Given the description of an element on the screen output the (x, y) to click on. 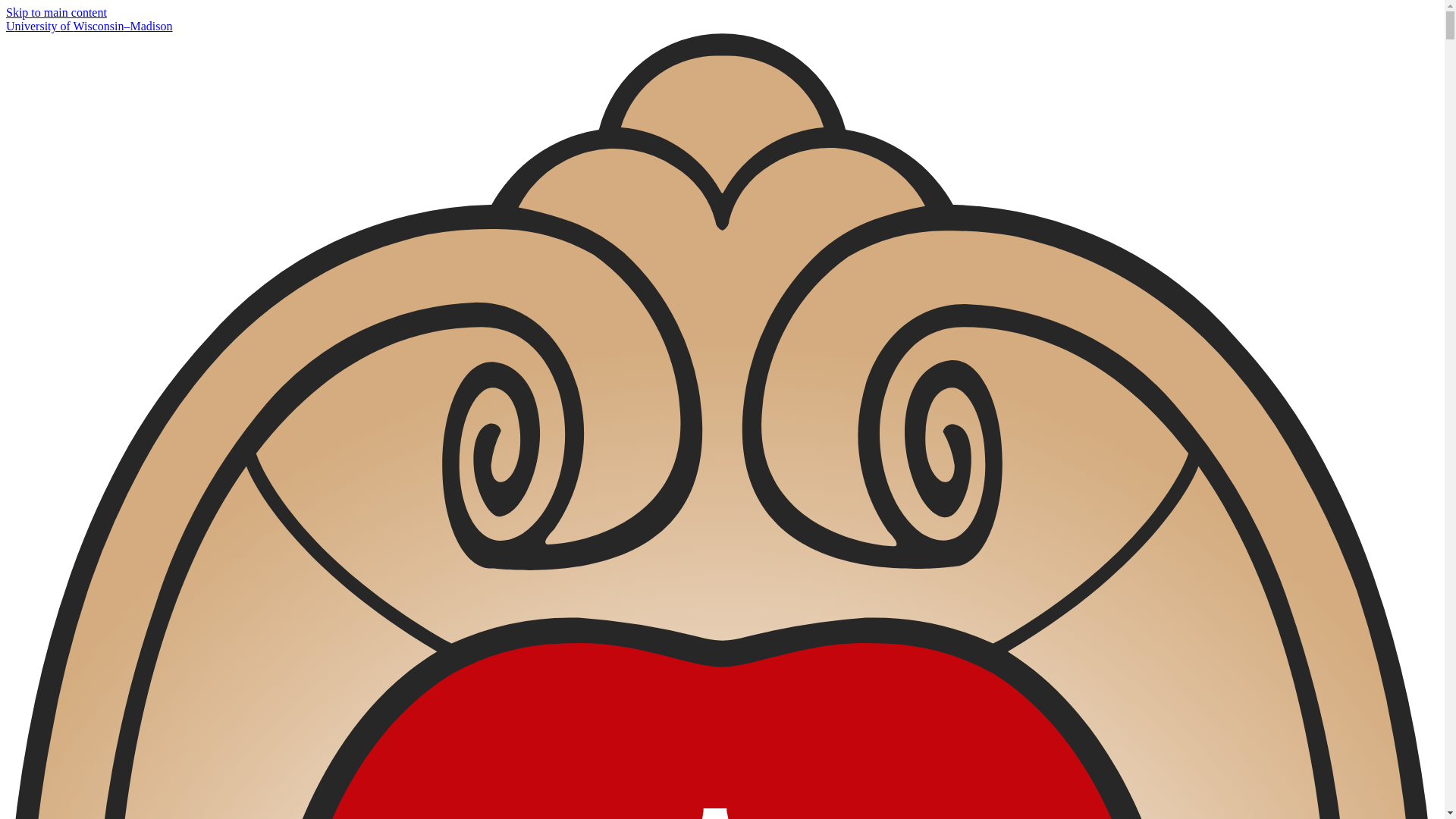
Skip to main content (55, 11)
